Given the description of an element on the screen output the (x, y) to click on. 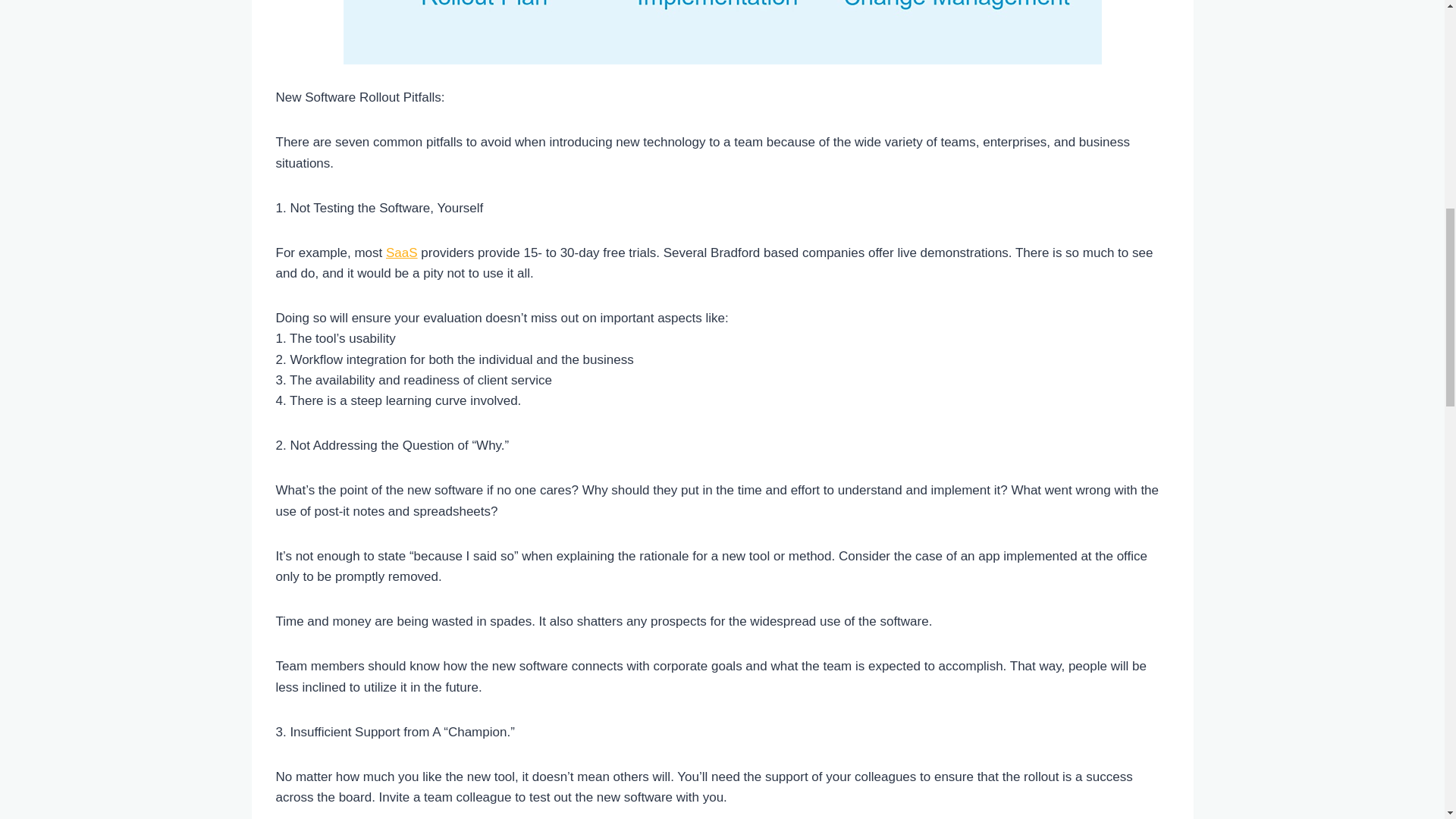
SaaS (401, 252)
